Given the description of an element on the screen output the (x, y) to click on. 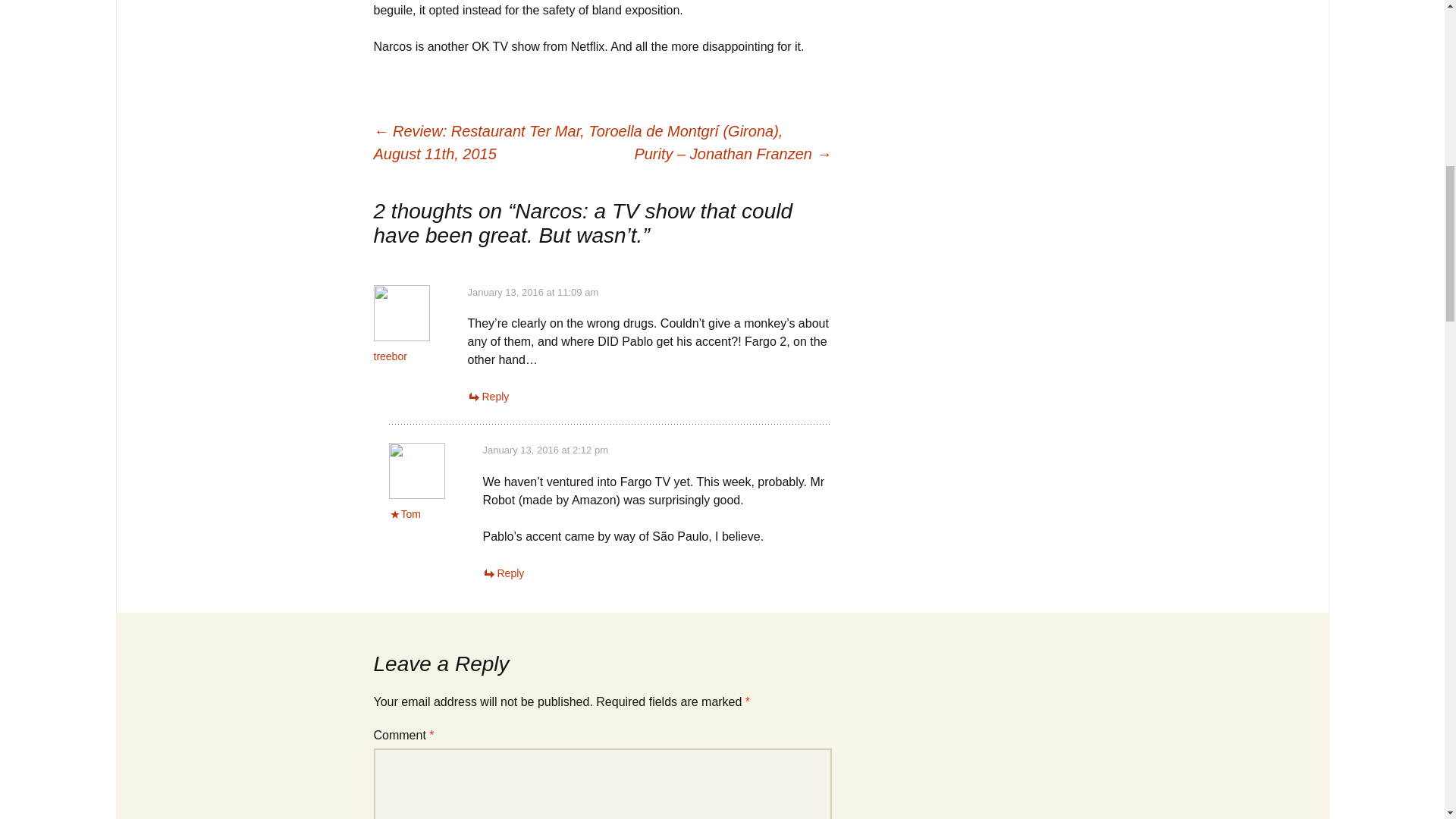
Tom (410, 513)
treebor (389, 356)
Reply (502, 573)
January 13, 2016 at 2:12 pm (544, 449)
Reply (487, 396)
January 13, 2016 at 11:09 am (532, 292)
